Given the description of an element on the screen output the (x, y) to click on. 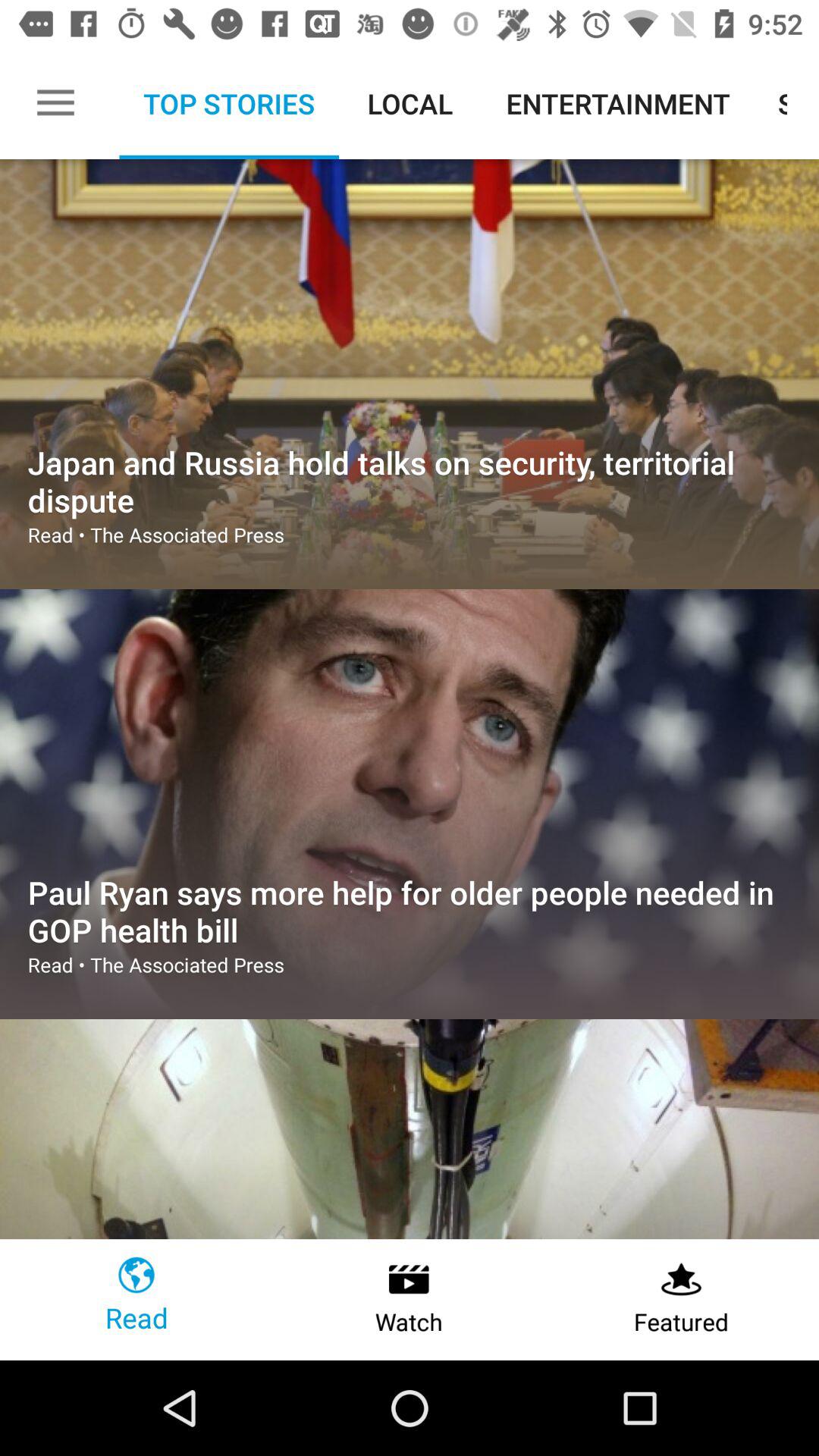
press the item to the left of top stories item (55, 103)
